Given the description of an element on the screen output the (x, y) to click on. 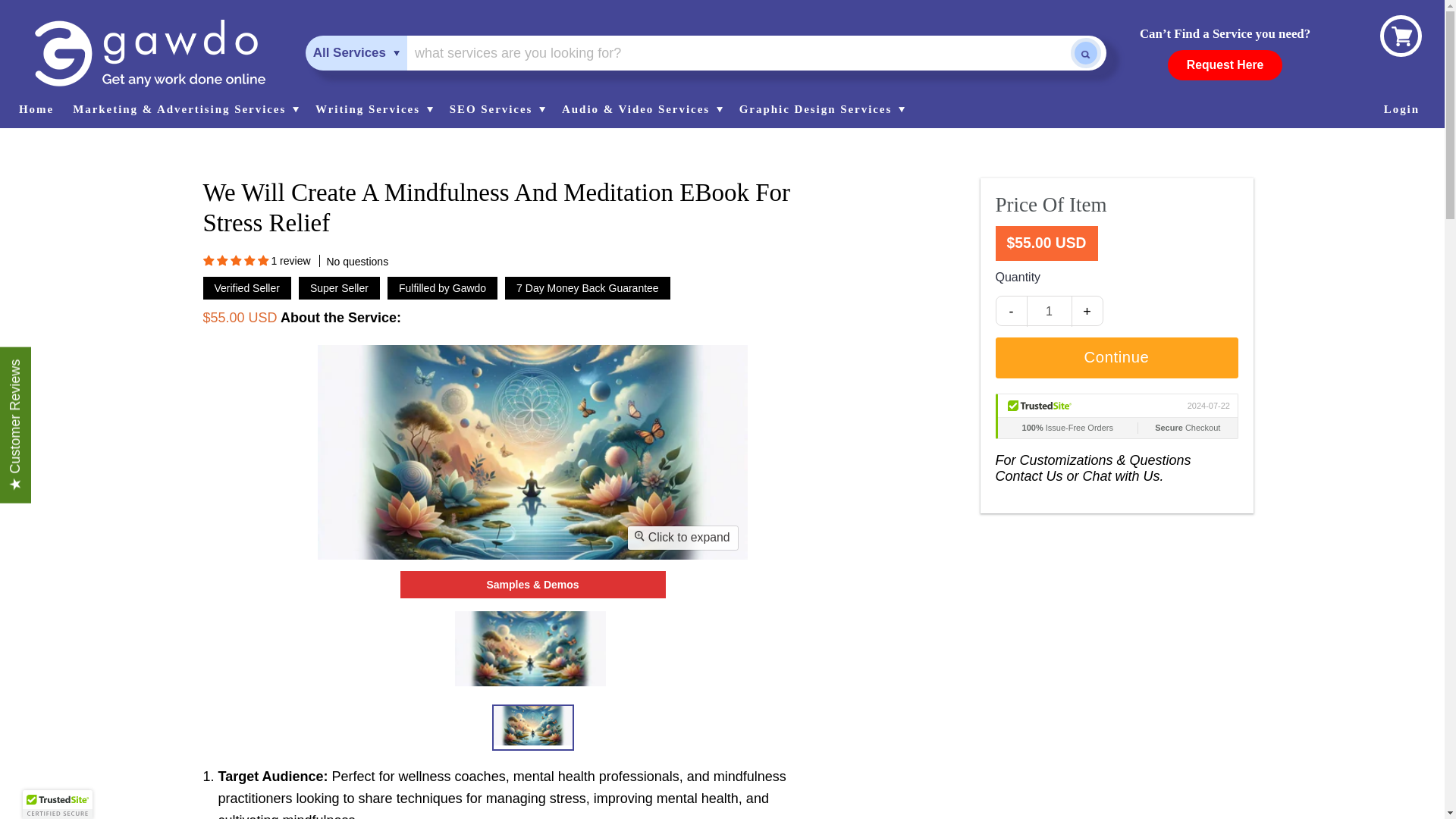
Graphic Design Services (821, 108)
Home (39, 108)
View cart (1402, 36)
Writing Services (372, 108)
TrustedSite Certified (1115, 415)
Request Here (1224, 64)
SEO Services (496, 108)
1 (1048, 311)
Request Here (1224, 64)
